Given the description of an element on the screen output the (x, y) to click on. 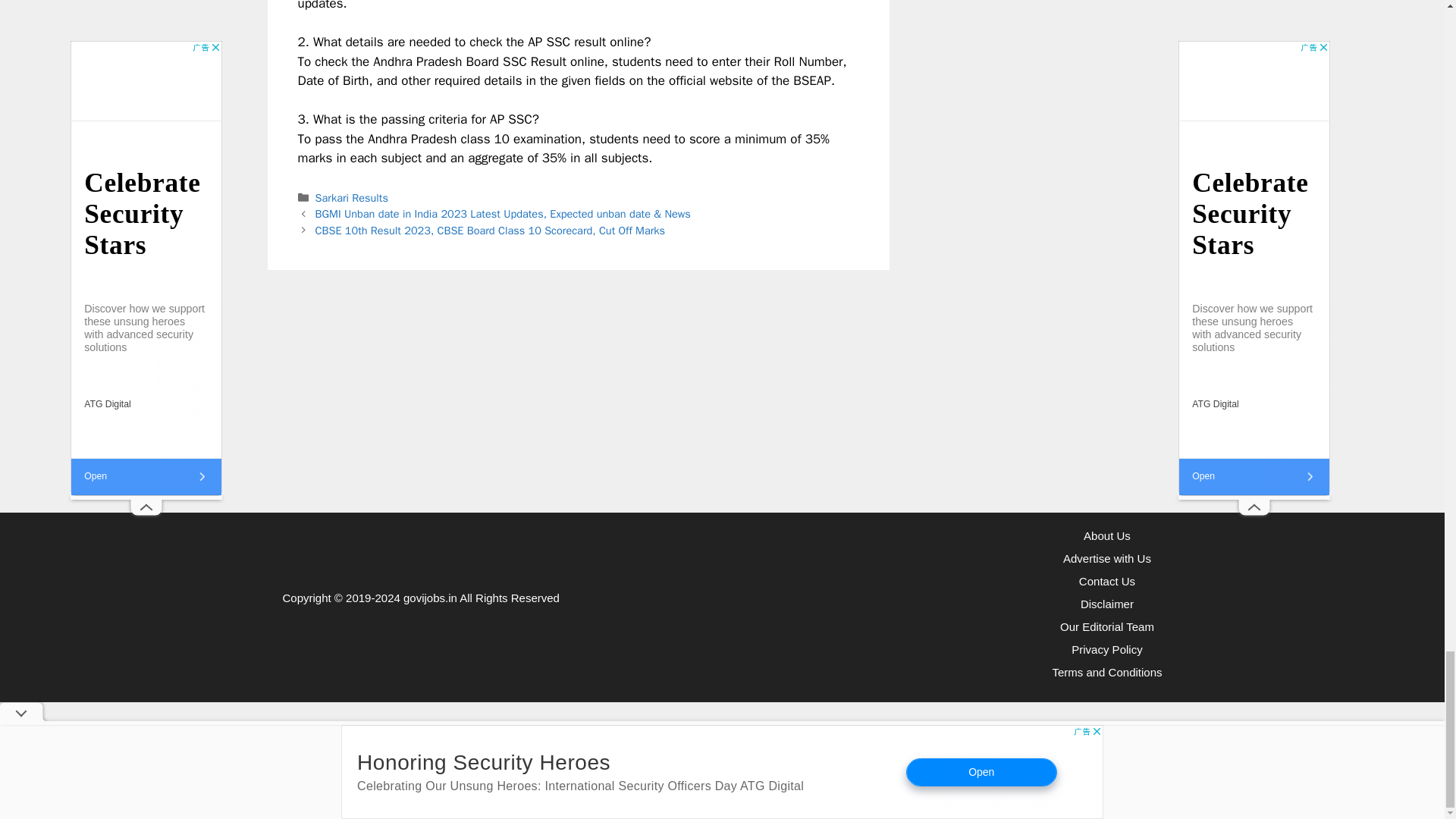
Our Editorial Team (1106, 626)
About Us (1107, 535)
Sarkari Results (351, 197)
Disclaimer (1107, 603)
Contact Us (1106, 581)
Terms and Conditions (1106, 671)
Privacy Policy (1106, 649)
Advertise with Us (1106, 558)
govijobs.in (430, 597)
